Given the description of an element on the screen output the (x, y) to click on. 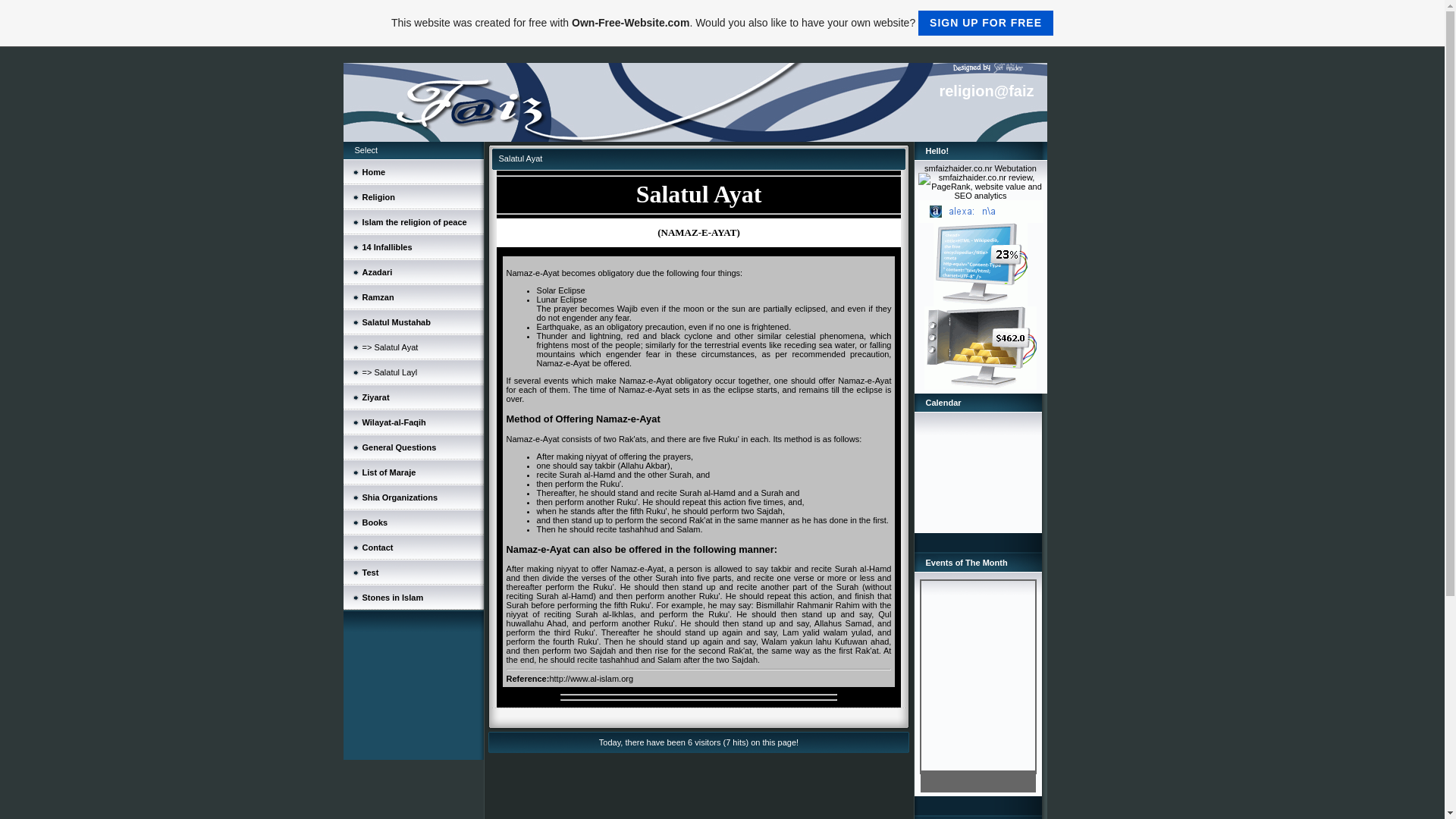
Ramzan (378, 297)
Contact (377, 547)
Website health for smfaizhaider.co.nr (980, 386)
smfaizhaider.co.nr Webutation (980, 167)
Ziyarat (376, 397)
Stones in Islam (392, 596)
Worth for smfaizhaider.co.nr (980, 302)
14 Infallibles (387, 246)
List of Maraje (389, 470)
Azadari (377, 271)
